Given the description of an element on the screen output the (x, y) to click on. 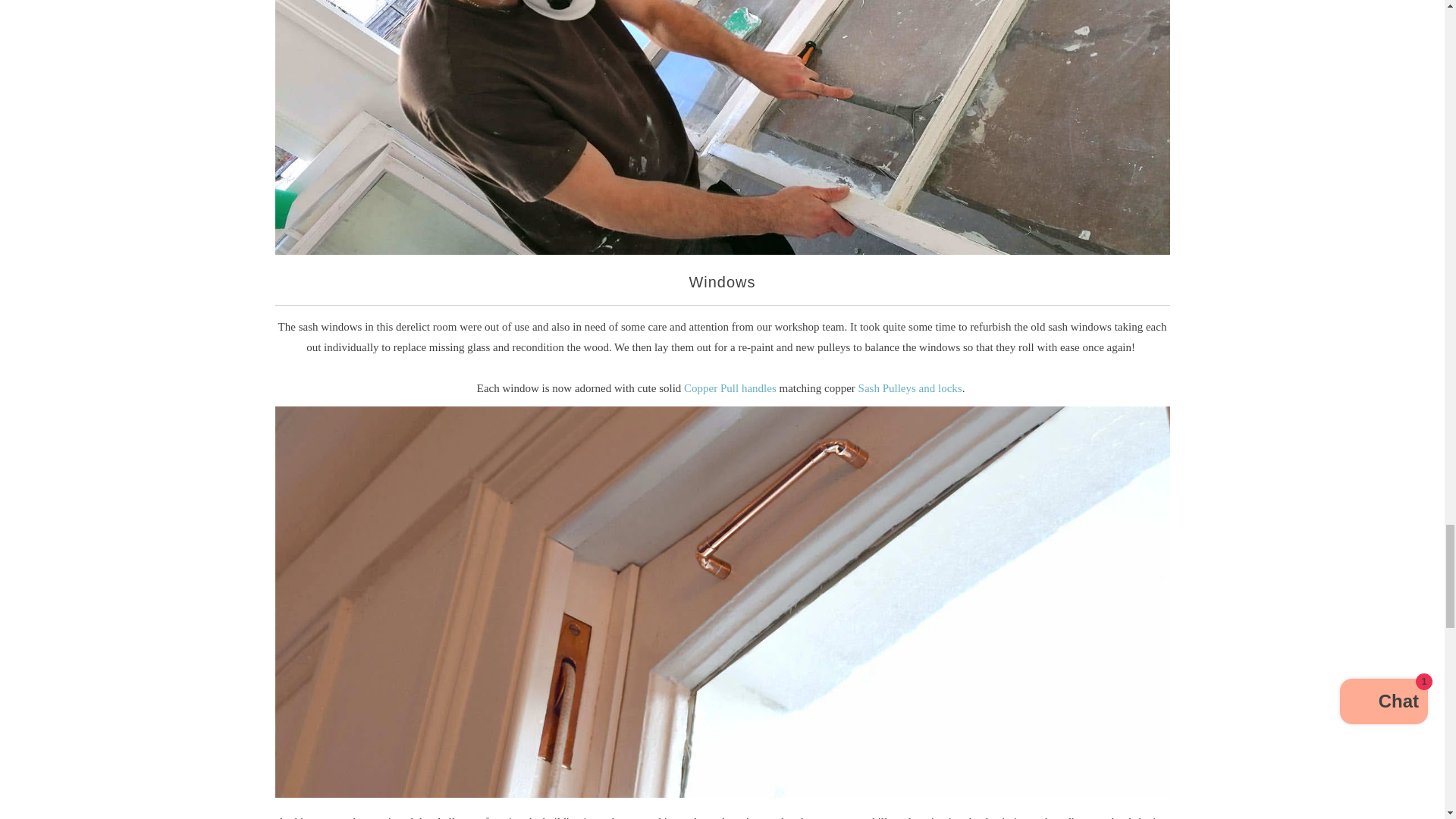
copper ironmongery (910, 387)
copper pulls (730, 387)
